Given the description of an element on the screen output the (x, y) to click on. 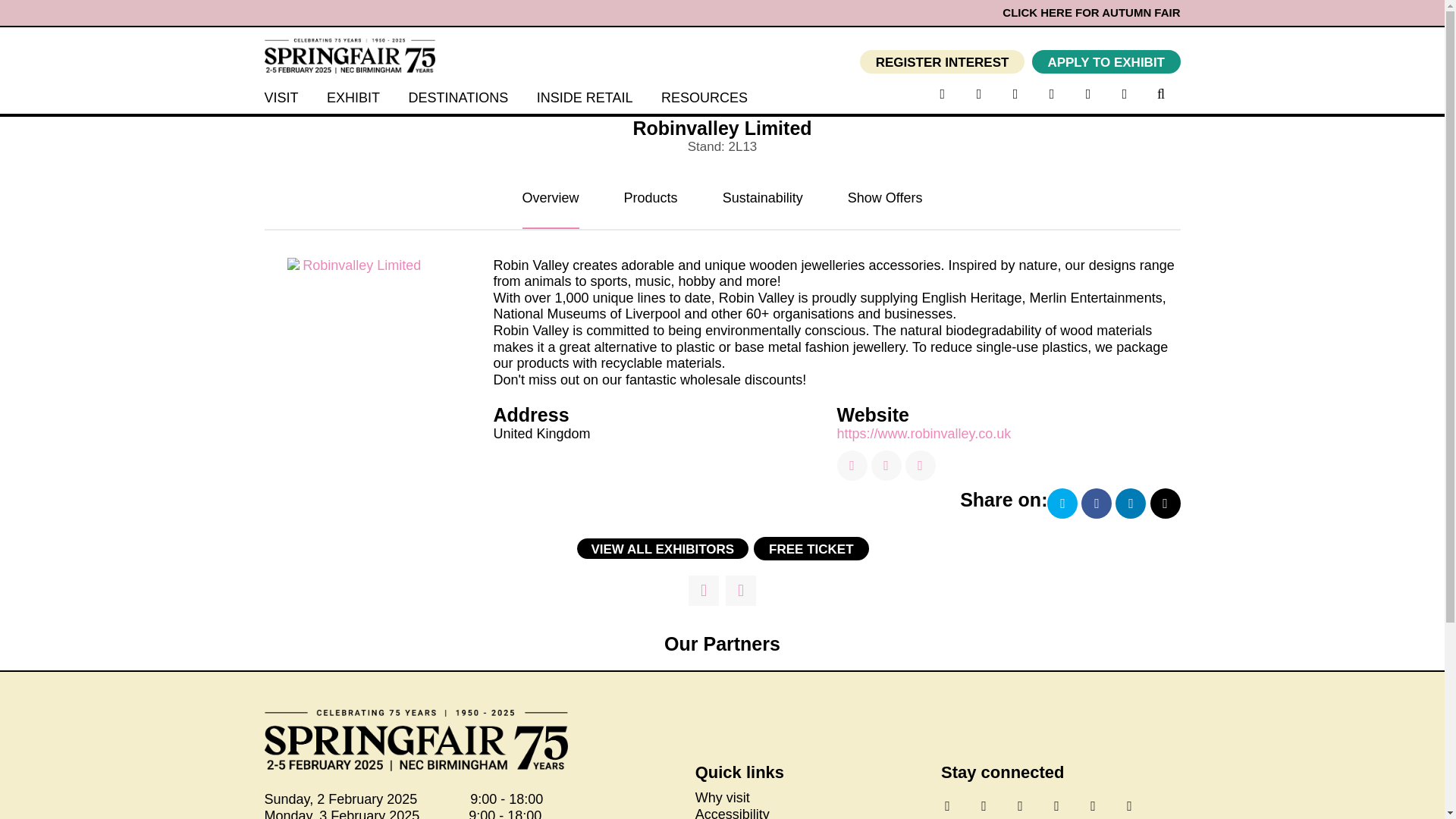
 CLICK HERE FOR AUTUMN FAIR (1088, 11)
